Given the description of an element on the screen output the (x, y) to click on. 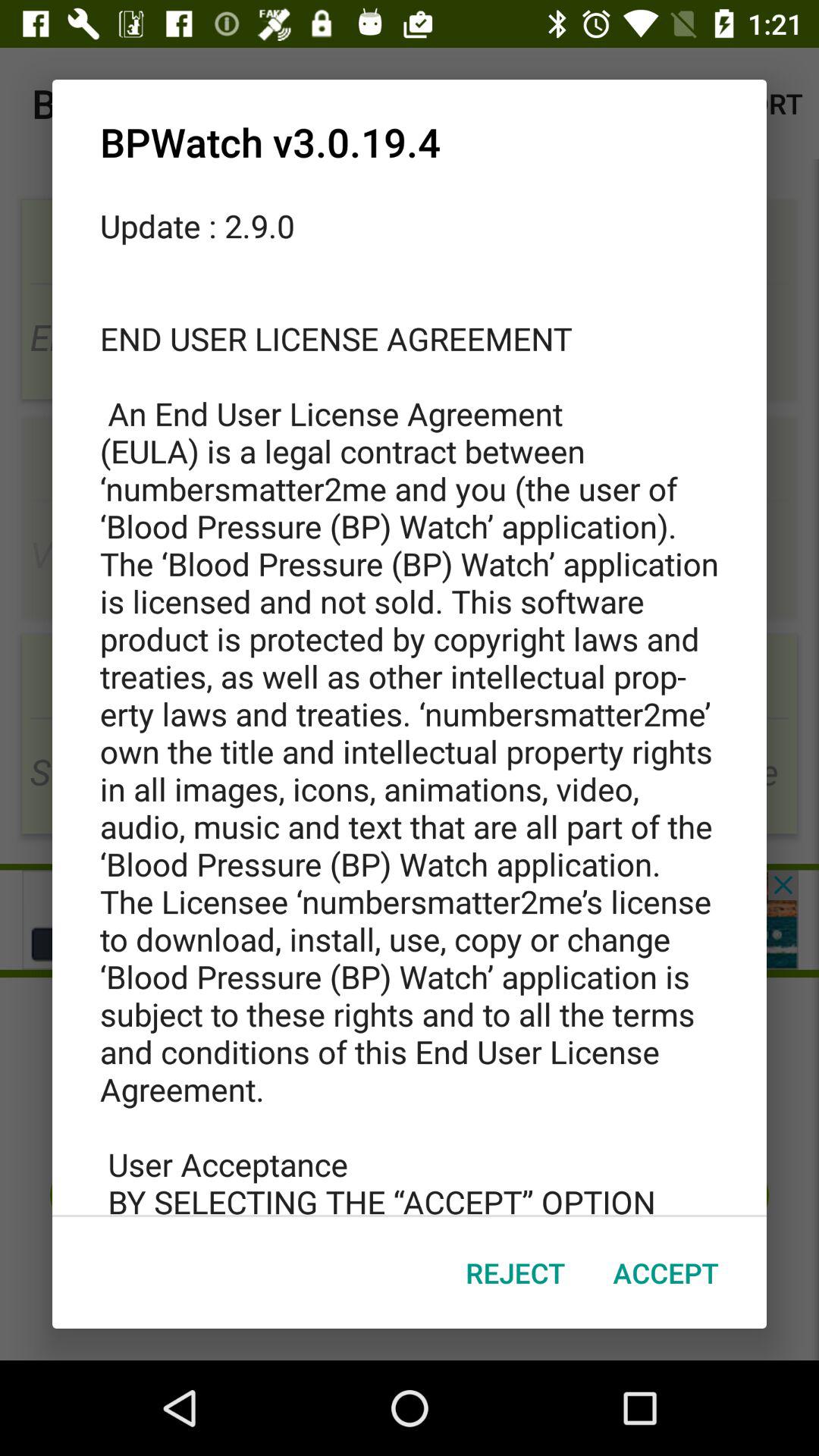
click the item to the right of reject item (665, 1272)
